Given the description of an element on the screen output the (x, y) to click on. 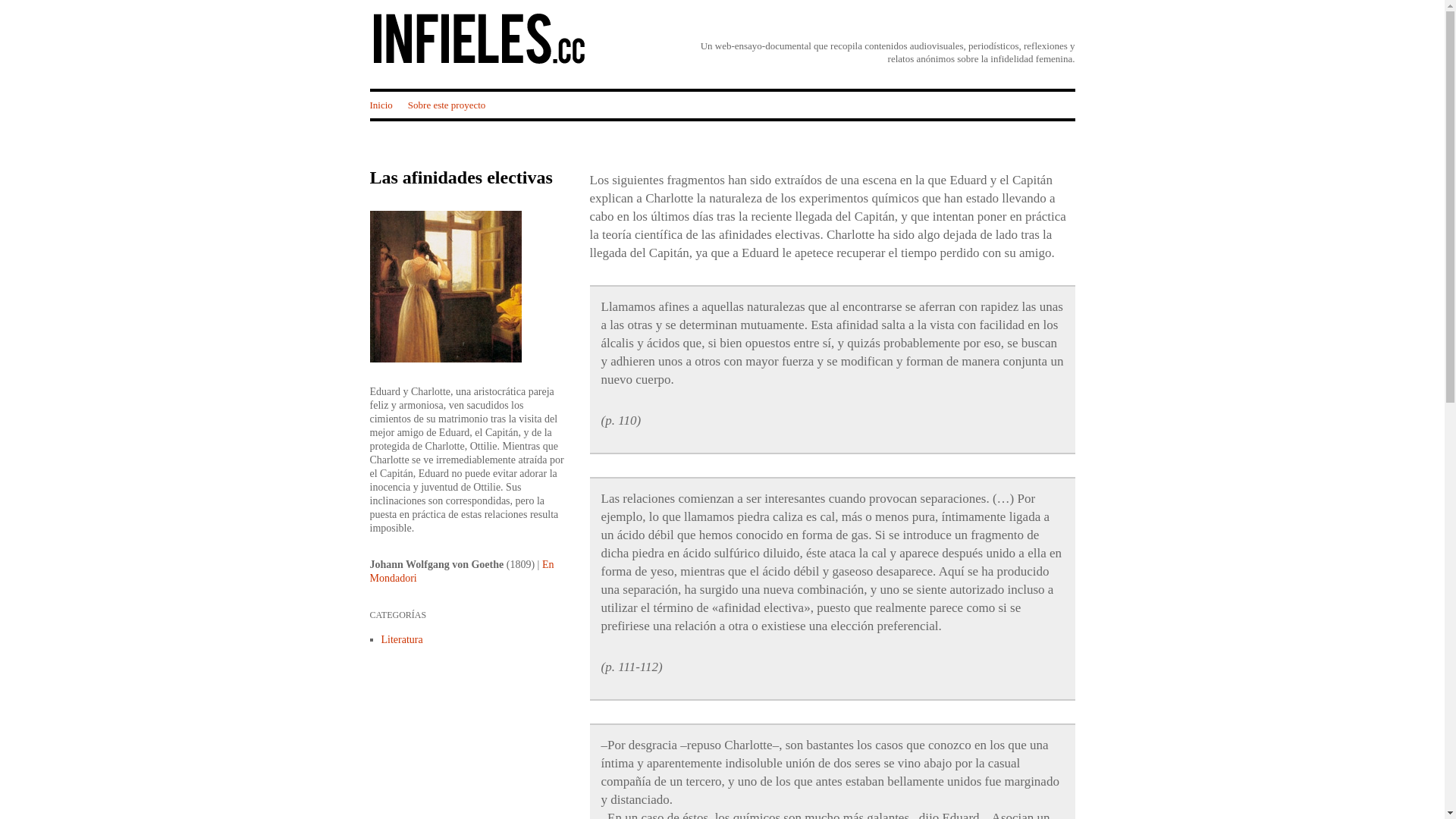
Inicio Element type: text (381, 104)
Sobre este proyecto Element type: text (446, 104)
Infieles Element type: hover (479, 61)
En Mondadori Element type: text (462, 570)
Literatura Element type: text (401, 639)
